Given the description of an element on the screen output the (x, y) to click on. 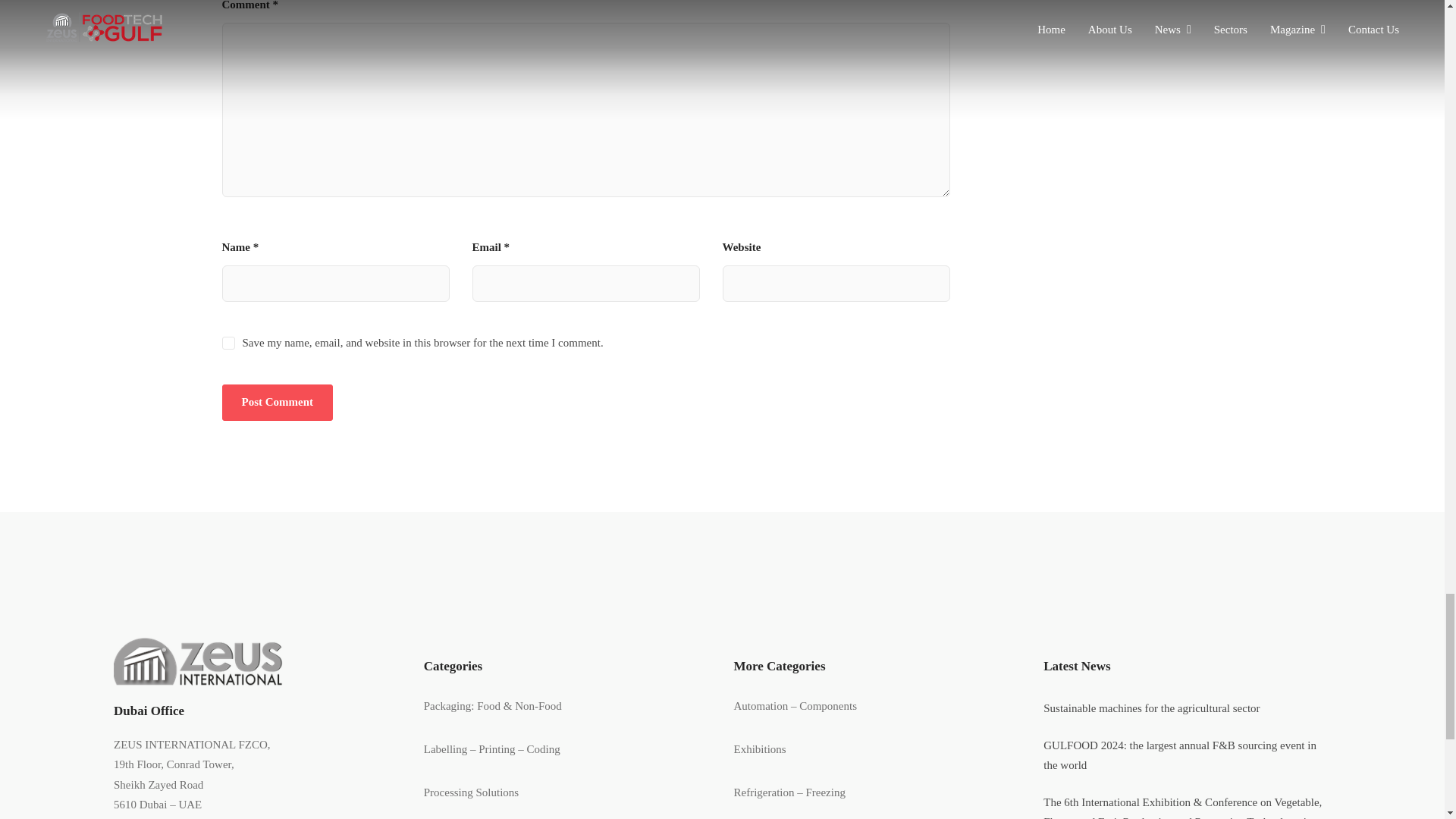
Post Comment (277, 402)
Post Comment (277, 402)
